Given the description of an element on the screen output the (x, y) to click on. 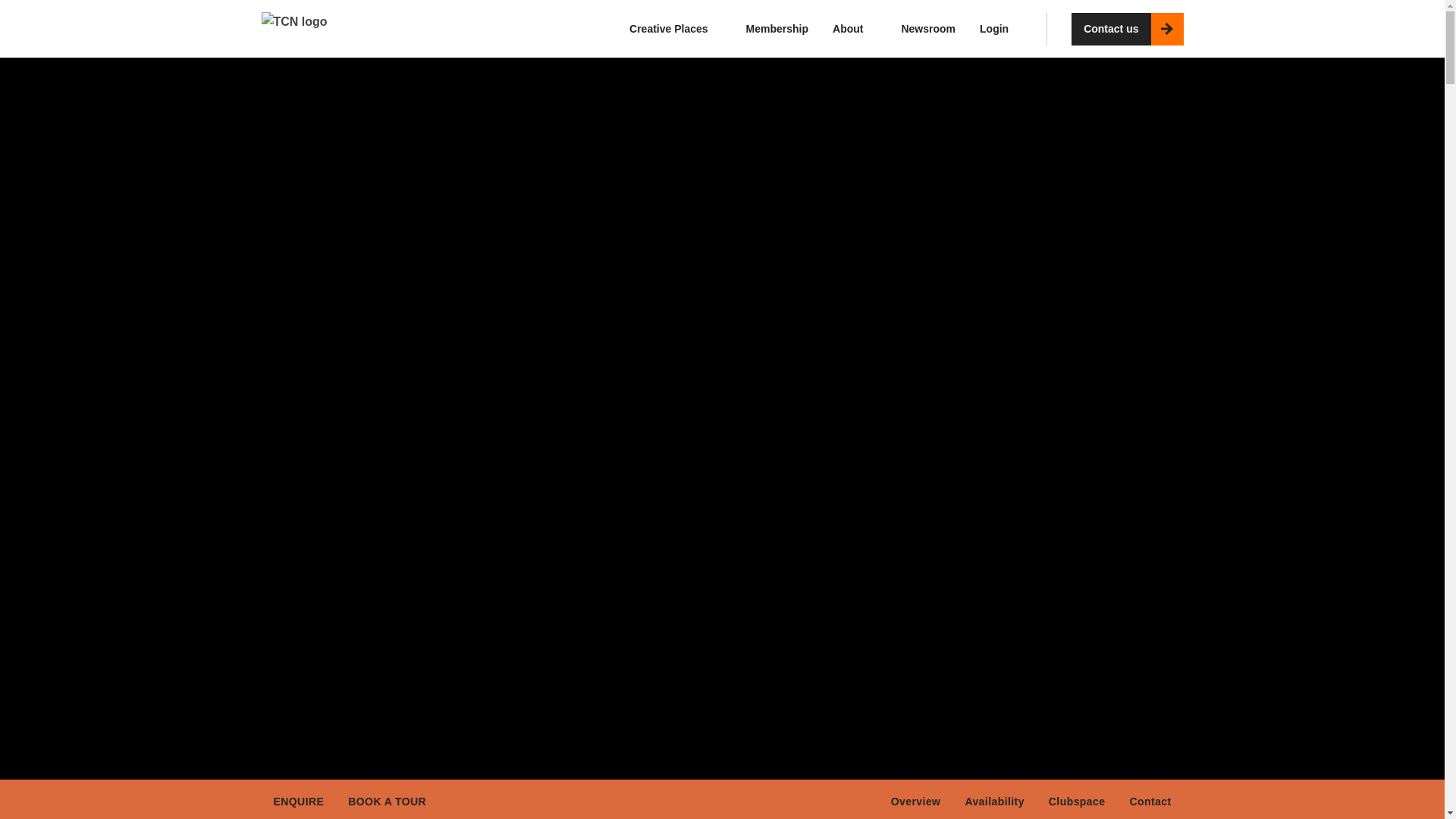
ENQUIRE (298, 799)
Clubspace (1077, 799)
Membership (776, 28)
BOOK A TOUR (387, 799)
Contact (1149, 799)
Overview (916, 799)
Newsroom (928, 28)
Contact us (1110, 28)
Availability (993, 799)
